Given the description of an element on the screen output the (x, y) to click on. 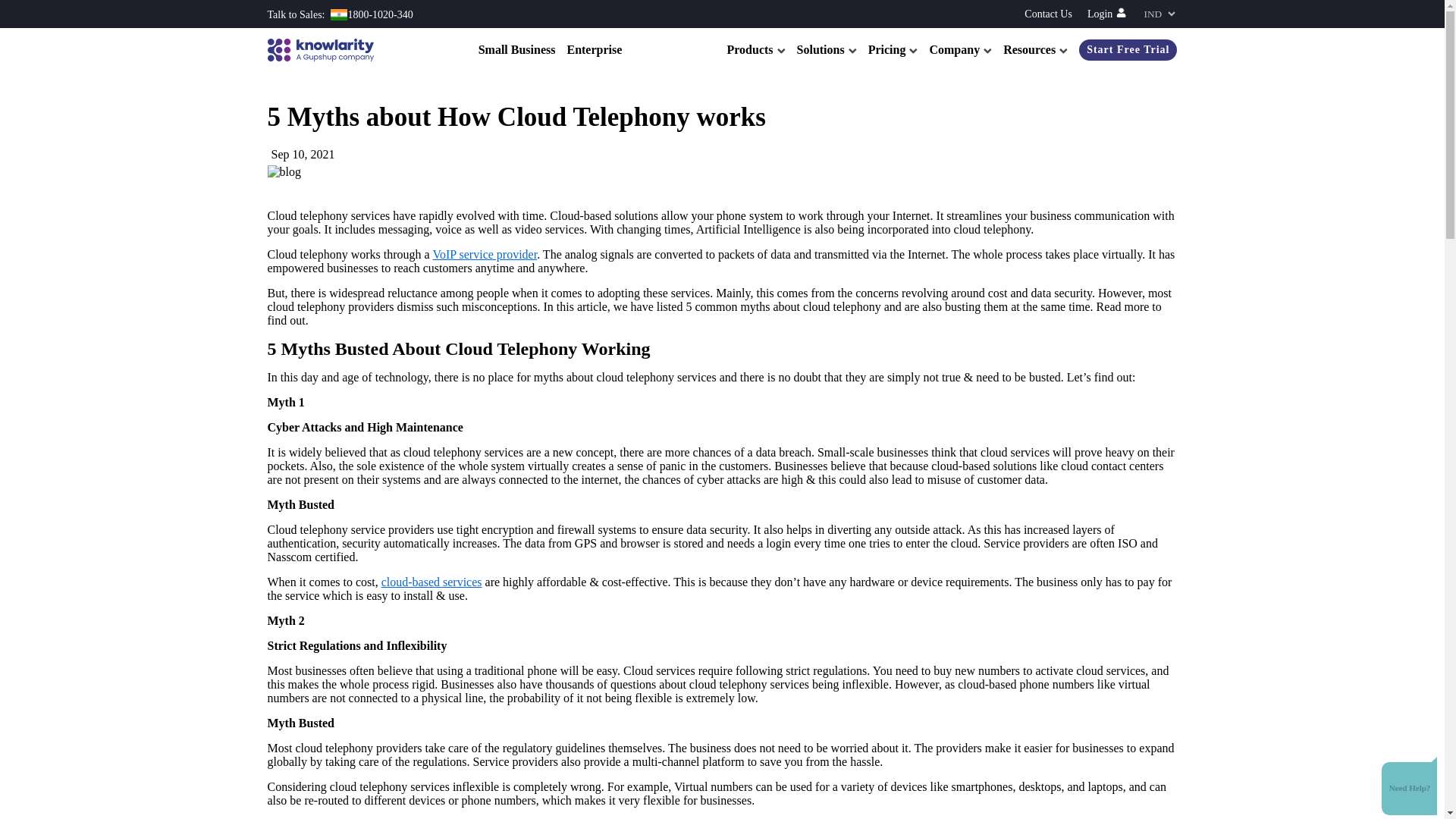
Contact Us (1048, 13)
Small Business (517, 49)
Login (1106, 13)
Products (755, 49)
Enterprise (593, 49)
